Given the description of an element on the screen output the (x, y) to click on. 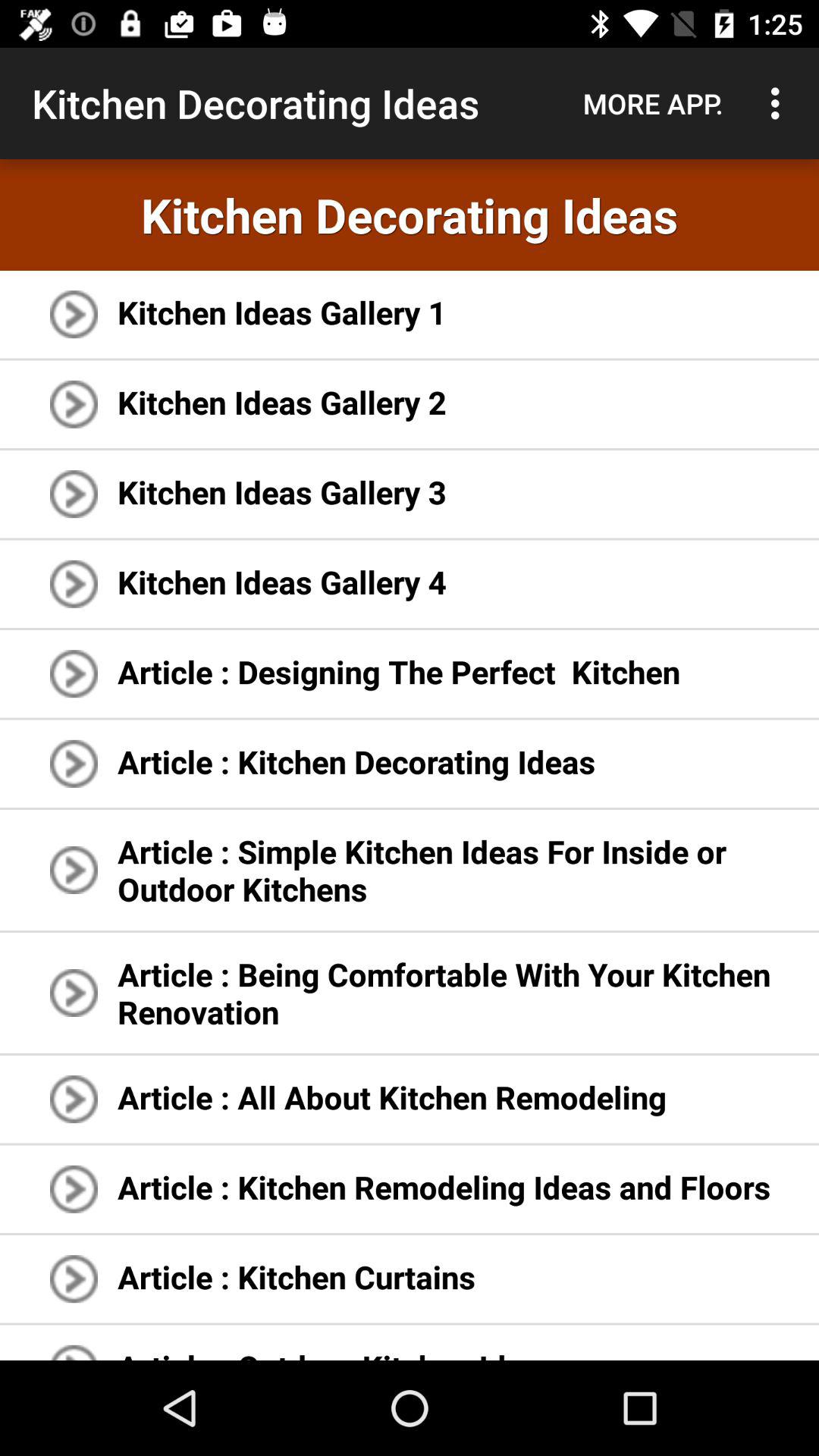
press the item next to the more app. icon (779, 103)
